Given the description of an element on the screen output the (x, y) to click on. 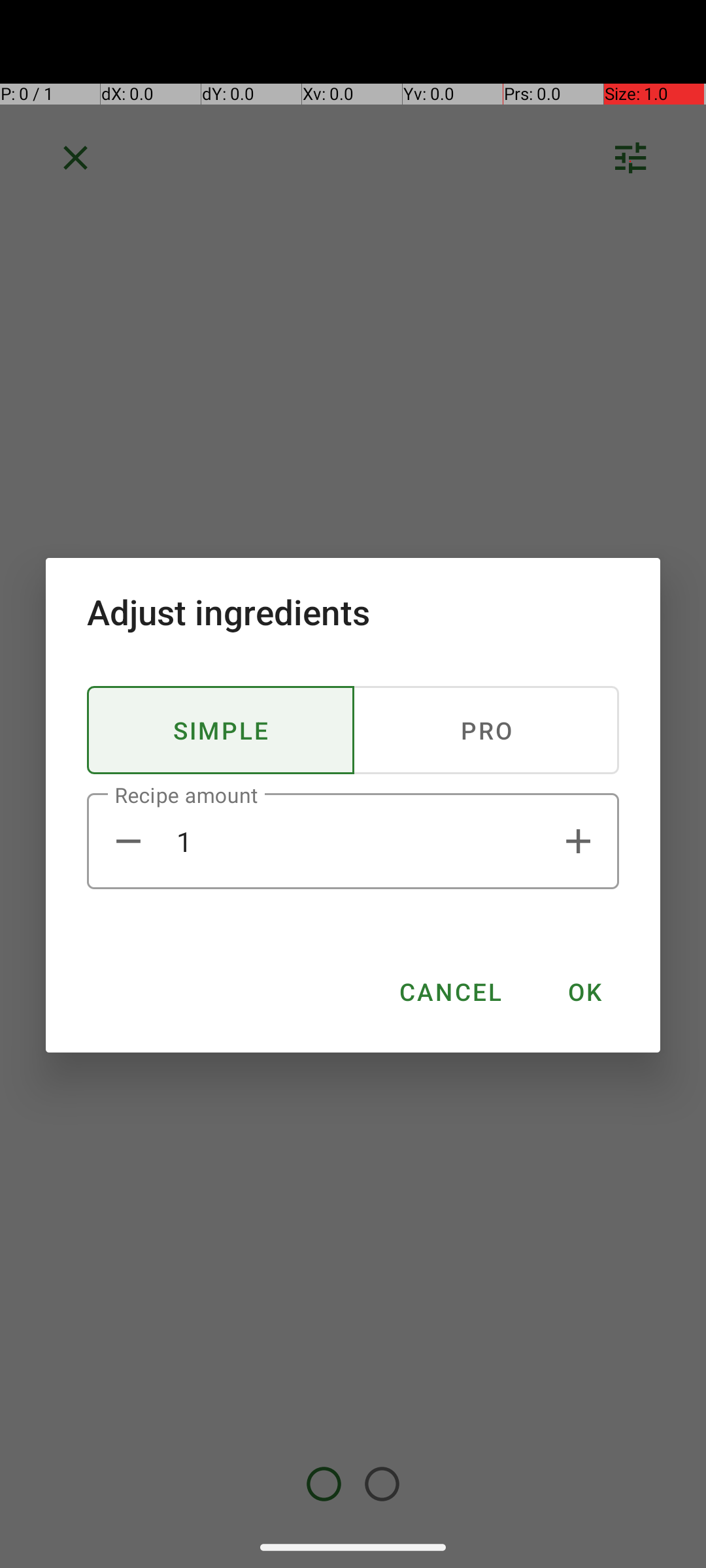
Adjust ingredients Element type: android.widget.TextView (352, 611)
SIMPLE Element type: android.widget.CompoundButton (220, 730)
PRO Element type: android.widget.CompoundButton (485, 730)
